Given the description of an element on the screen output the (x, y) to click on. 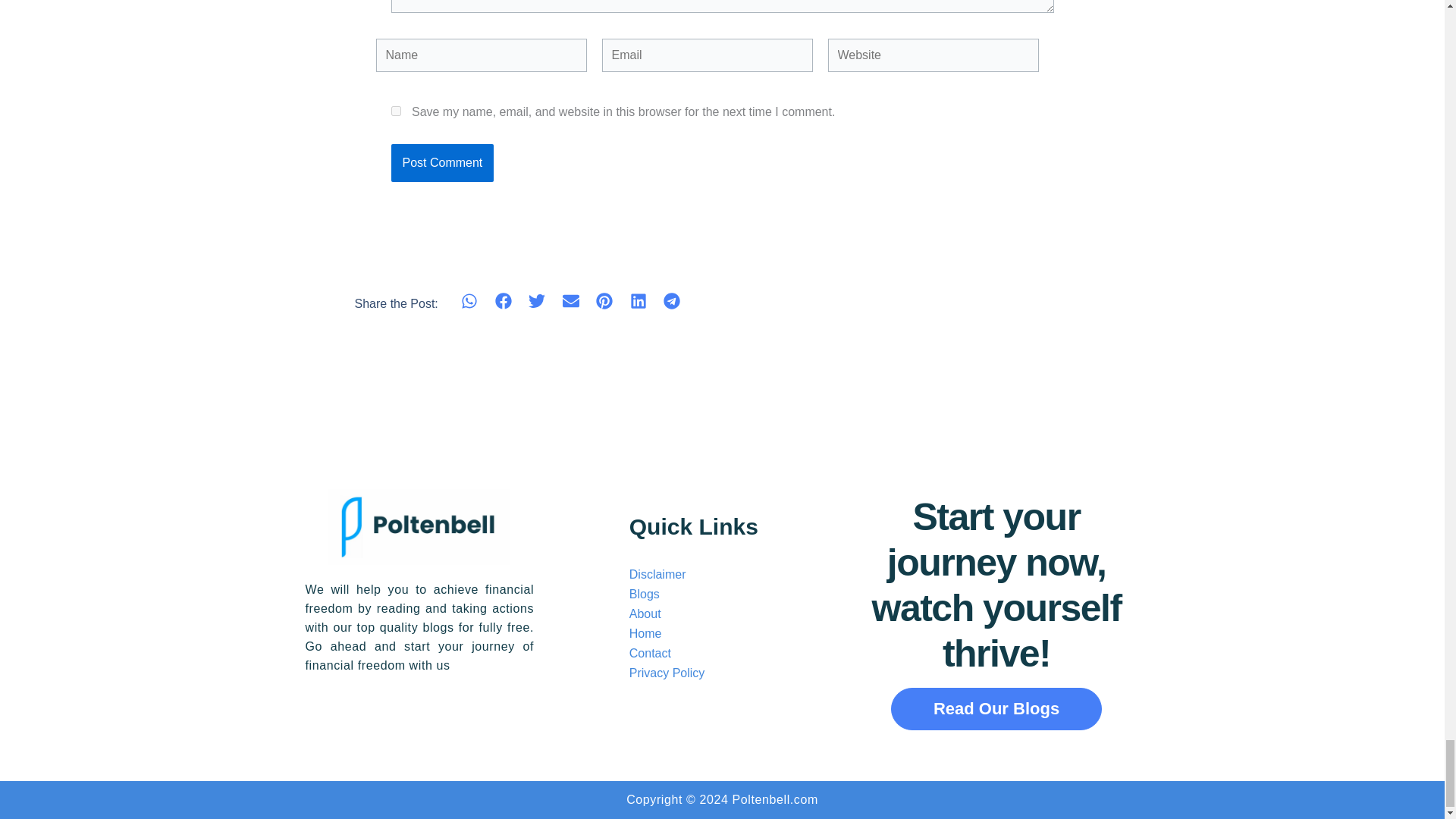
Privacy Policy (666, 672)
Home (645, 633)
Post Comment (443, 162)
Post Comment (443, 162)
Read Our Blogs (996, 708)
Disclaimer (656, 574)
yes (396, 111)
Contact (649, 653)
Blogs (643, 594)
About (644, 613)
